Given the description of an element on the screen output the (x, y) to click on. 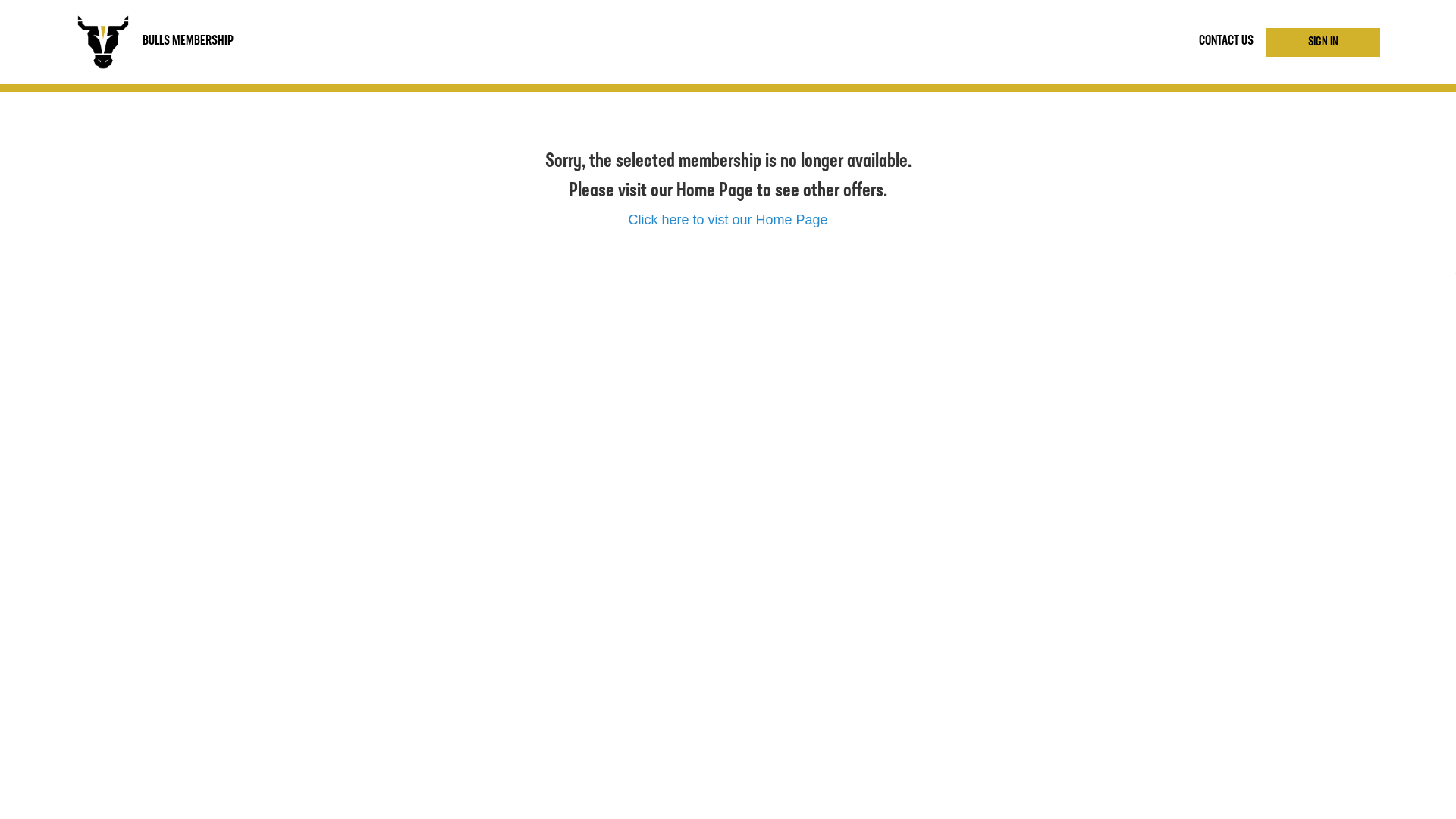
CONTACT US Element type: text (1225, 41)
SIGN IN Element type: text (1323, 42)
Click here to vist our Home Page Element type: text (727, 219)
